Given the description of an element on the screen output the (x, y) to click on. 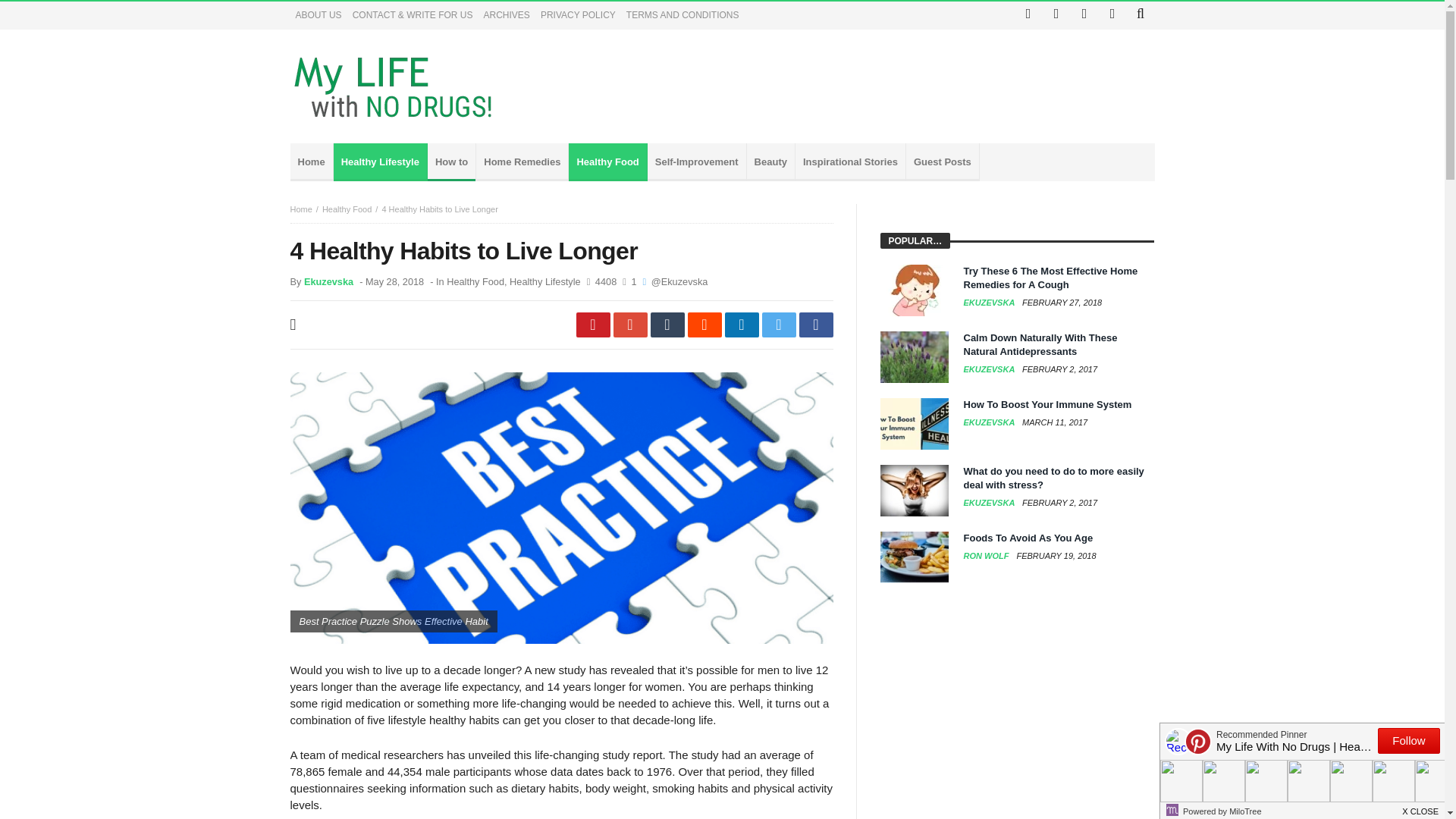
ABOUT US (318, 15)
ARCHIVES (506, 15)
PRIVACY POLICY (577, 15)
Facebook (1028, 15)
TERMS AND CONDITIONS (682, 15)
reddit (703, 324)
Twitter (1056, 15)
Healthy Food (346, 208)
linkedin (741, 324)
twitter (777, 324)
